Given the description of an element on the screen output the (x, y) to click on. 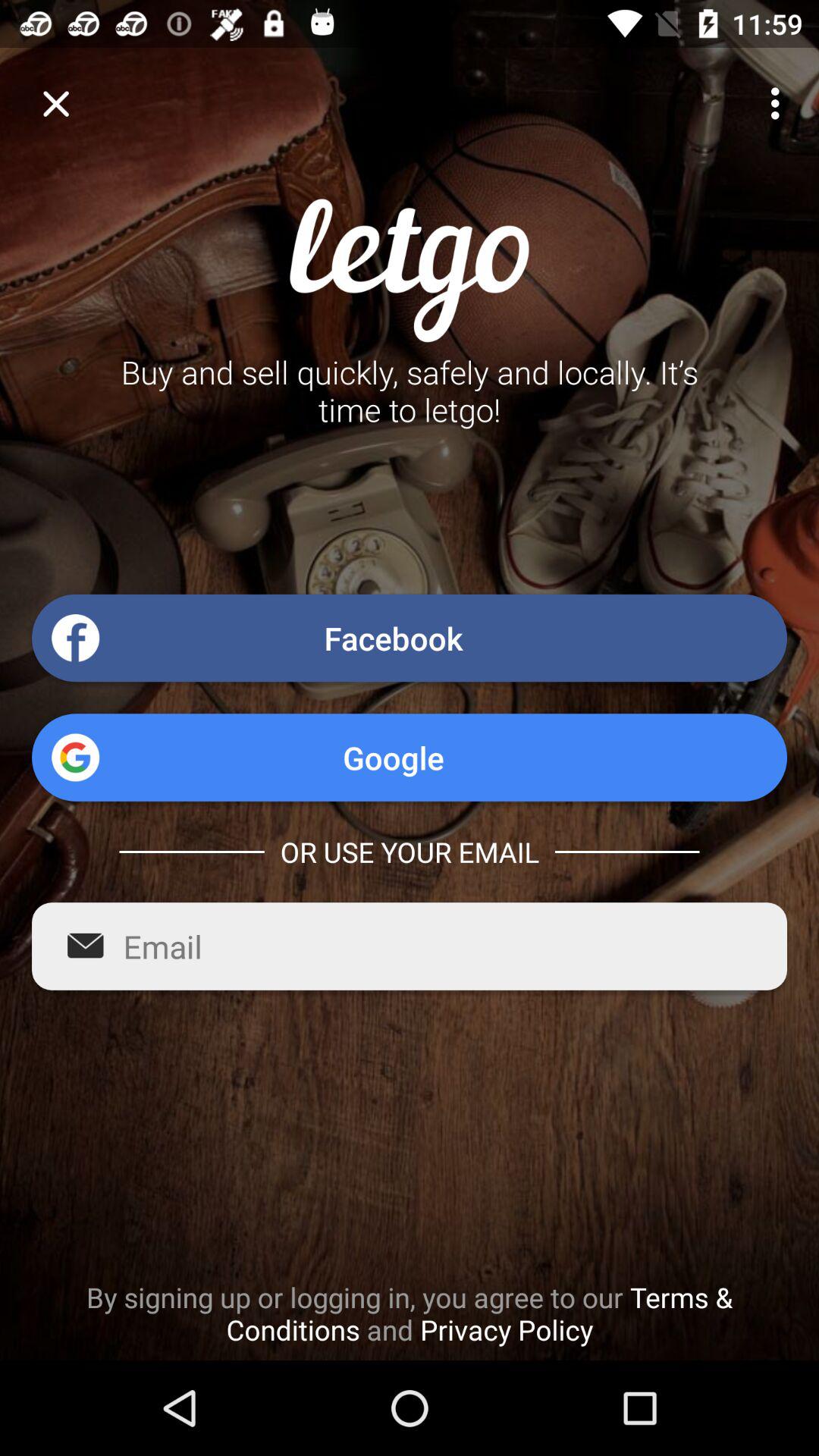
exit login page (55, 103)
